Given the description of an element on the screen output the (x, y) to click on. 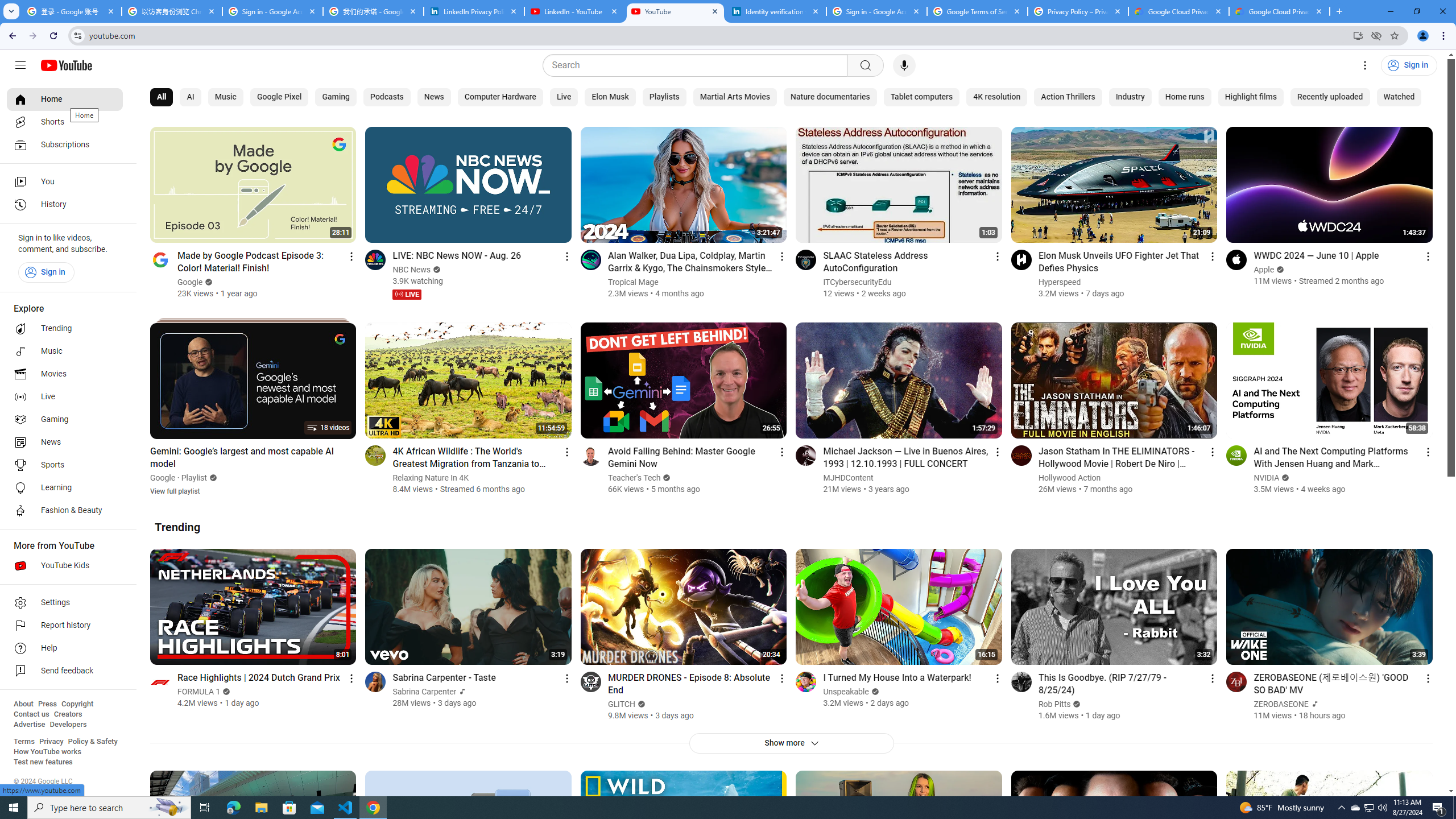
Sign in (45, 272)
YouTube (675, 11)
Help (64, 648)
Copyright (77, 703)
Gaming (64, 419)
Sign in - Google Accounts (876, 11)
Elon Musk (610, 97)
Report history (64, 625)
Sign in - Google Accounts (271, 11)
Teacher's Tech (634, 477)
Show more (790, 742)
